Given the description of an element on the screen output the (x, y) to click on. 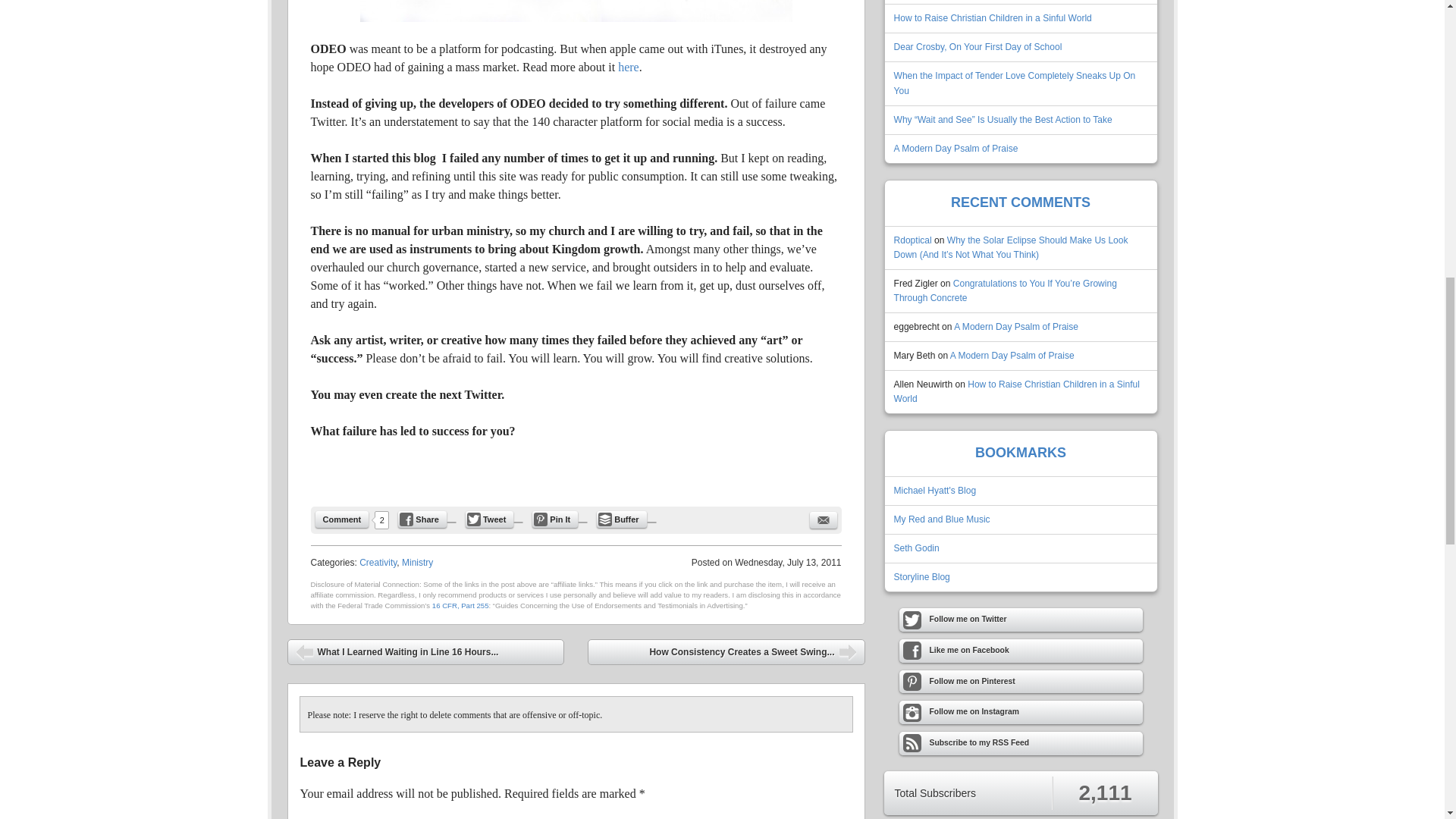
Buffer (621, 519)
Tweet (489, 519)
How Twitter Was Founded (628, 66)
Share (421, 519)
Comment (342, 519)
Ministry (416, 562)
Creativity (377, 562)
email (823, 519)
Pin It (555, 519)
The keys of success (575, 11)
here (628, 66)
16 CFR, Part 255 (460, 605)
Comment on this Post (342, 519)
